Given the description of an element on the screen output the (x, y) to click on. 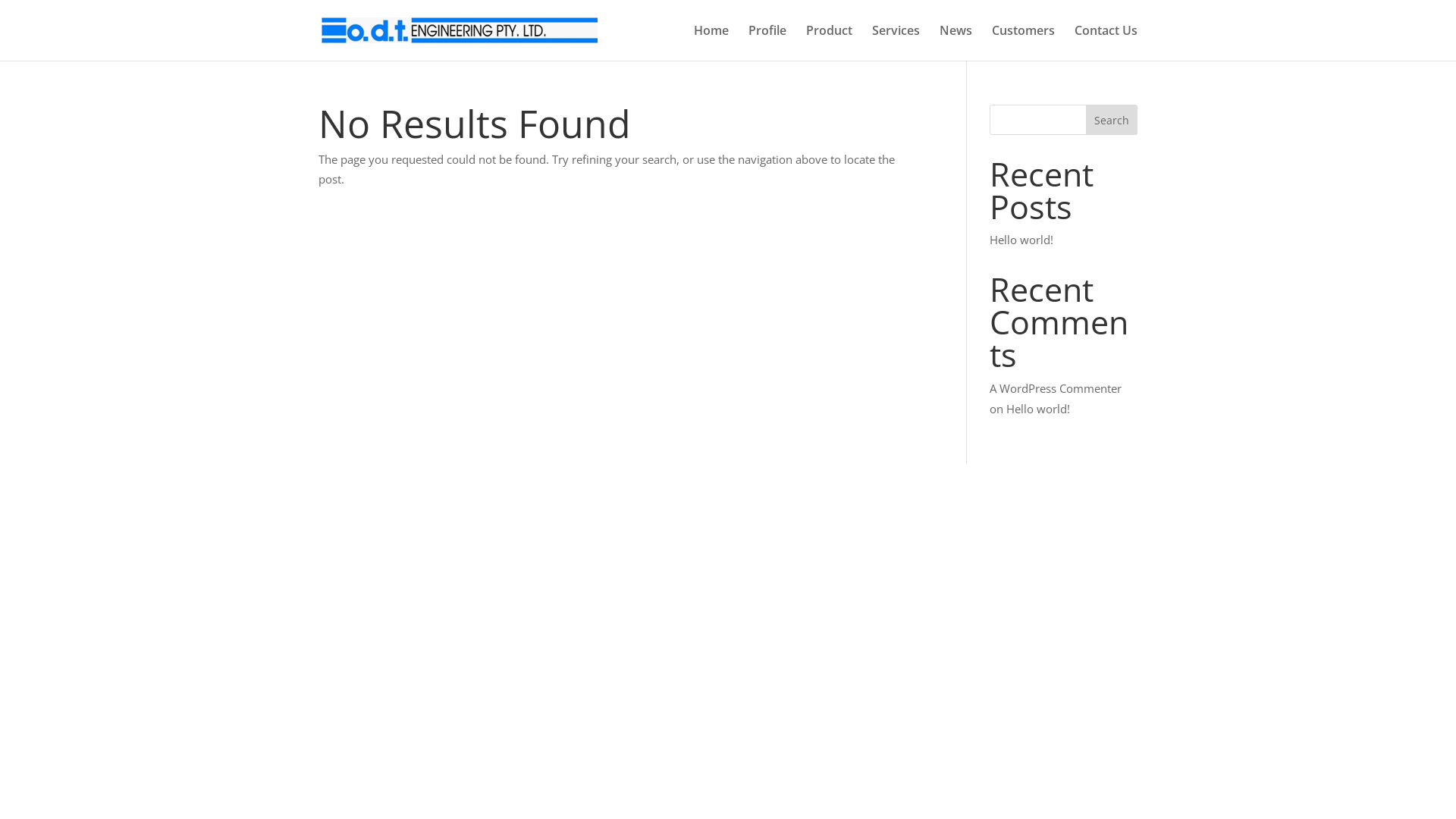
Hello world! Element type: text (1021, 239)
Hello world! Element type: text (1038, 407)
A WordPress Commenter Element type: text (1055, 387)
Contact Us Element type: text (1105, 42)
News Element type: text (955, 42)
Customers Element type: text (1022, 42)
Profile Element type: text (767, 42)
Home Element type: text (710, 42)
Product Element type: text (829, 42)
Search Element type: text (1111, 119)
Services Element type: text (895, 42)
